Given the description of an element on the screen output the (x, y) to click on. 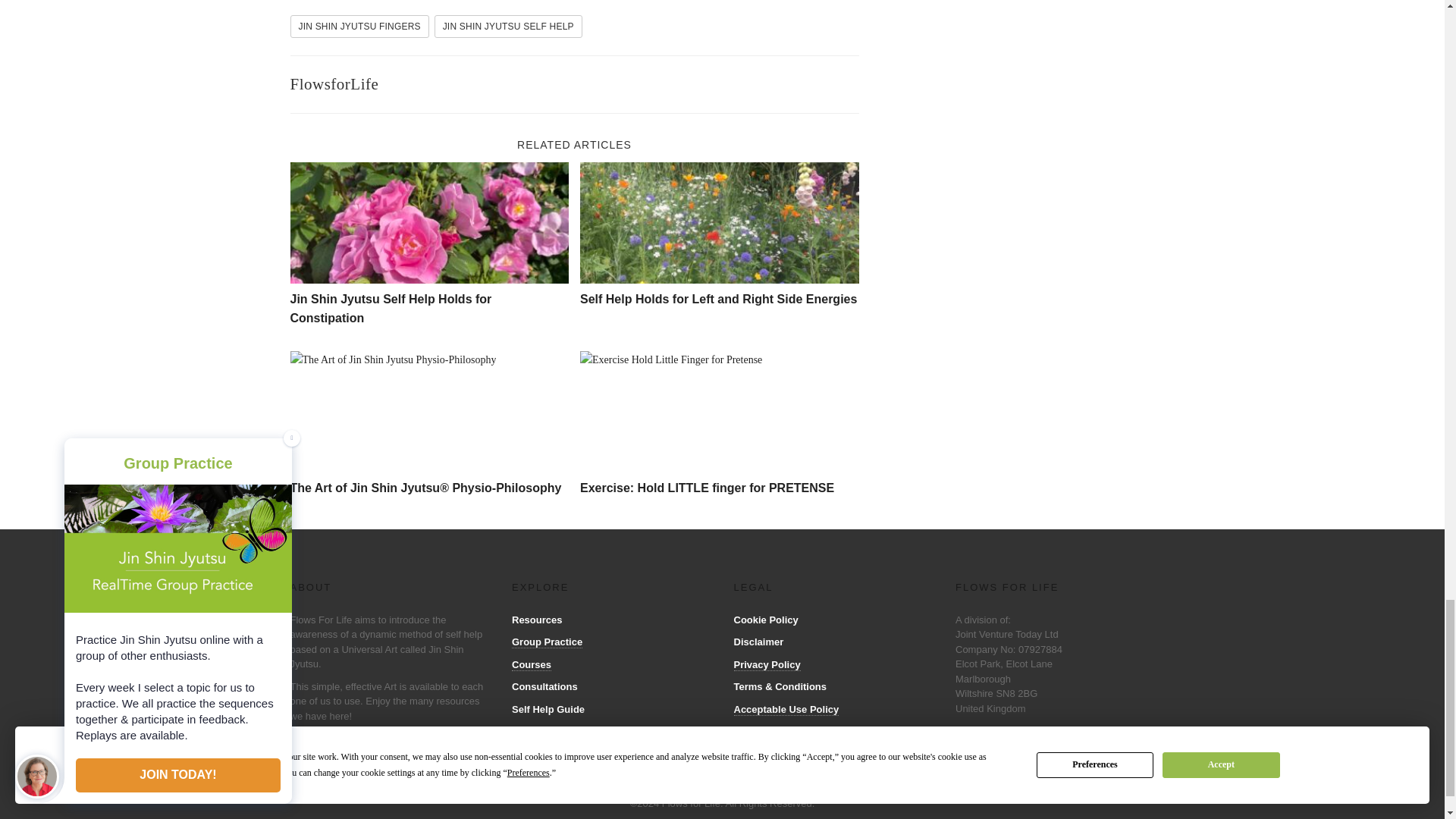
JIN SHIN JYUTSU SELF HELP (507, 26)
Jin Shin Jyutsu Self Help Holds for Constipation (429, 222)
JIN SHIN JYUTSU FINGERS (358, 26)
jin shin jyutsu self help Tag (507, 26)
jin shin jyutsu fingers Tag (358, 26)
FlowsforLife (333, 84)
Self Help Holds for Left and Right Side Energies (719, 222)
Jin Shin Jyutsu Self Help Holds for Constipation (390, 308)
